Given the description of an element on the screen output the (x, y) to click on. 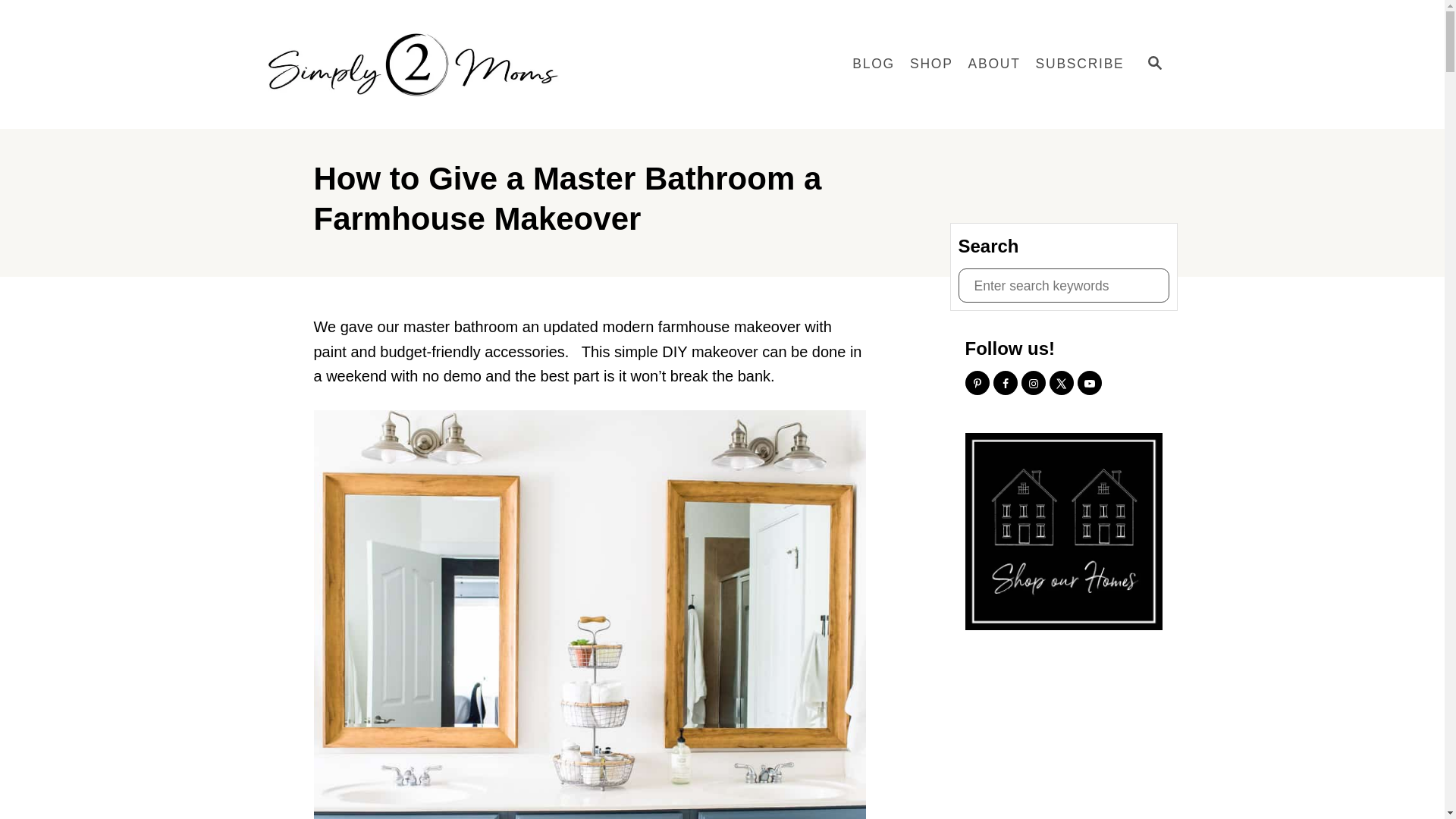
Follow on Instagram (1033, 382)
Simply2moms (418, 64)
BLOG (873, 64)
Search for: (1063, 285)
ABOUT (993, 64)
Follow on YouTube (1089, 382)
SUBSCRIBE (1079, 64)
SHOP (931, 64)
Follow on X (1061, 382)
Follow on Pinterest (975, 382)
